Given the description of an element on the screen output the (x, y) to click on. 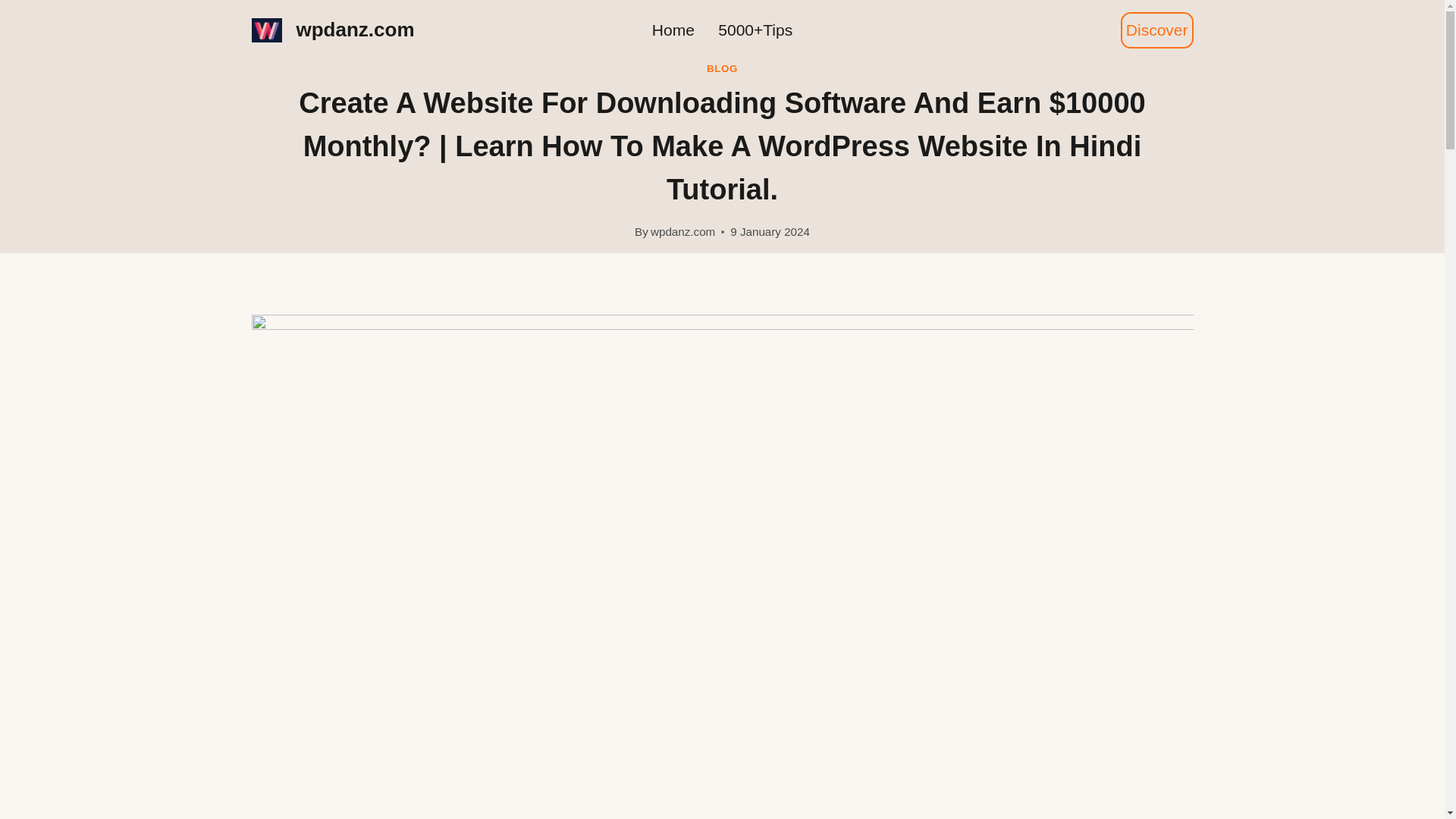
Home (673, 30)
BLOG (722, 68)
wpdanz.com (332, 30)
wpdanz.com (682, 231)
Discover (1157, 30)
